Given the description of an element on the screen output the (x, y) to click on. 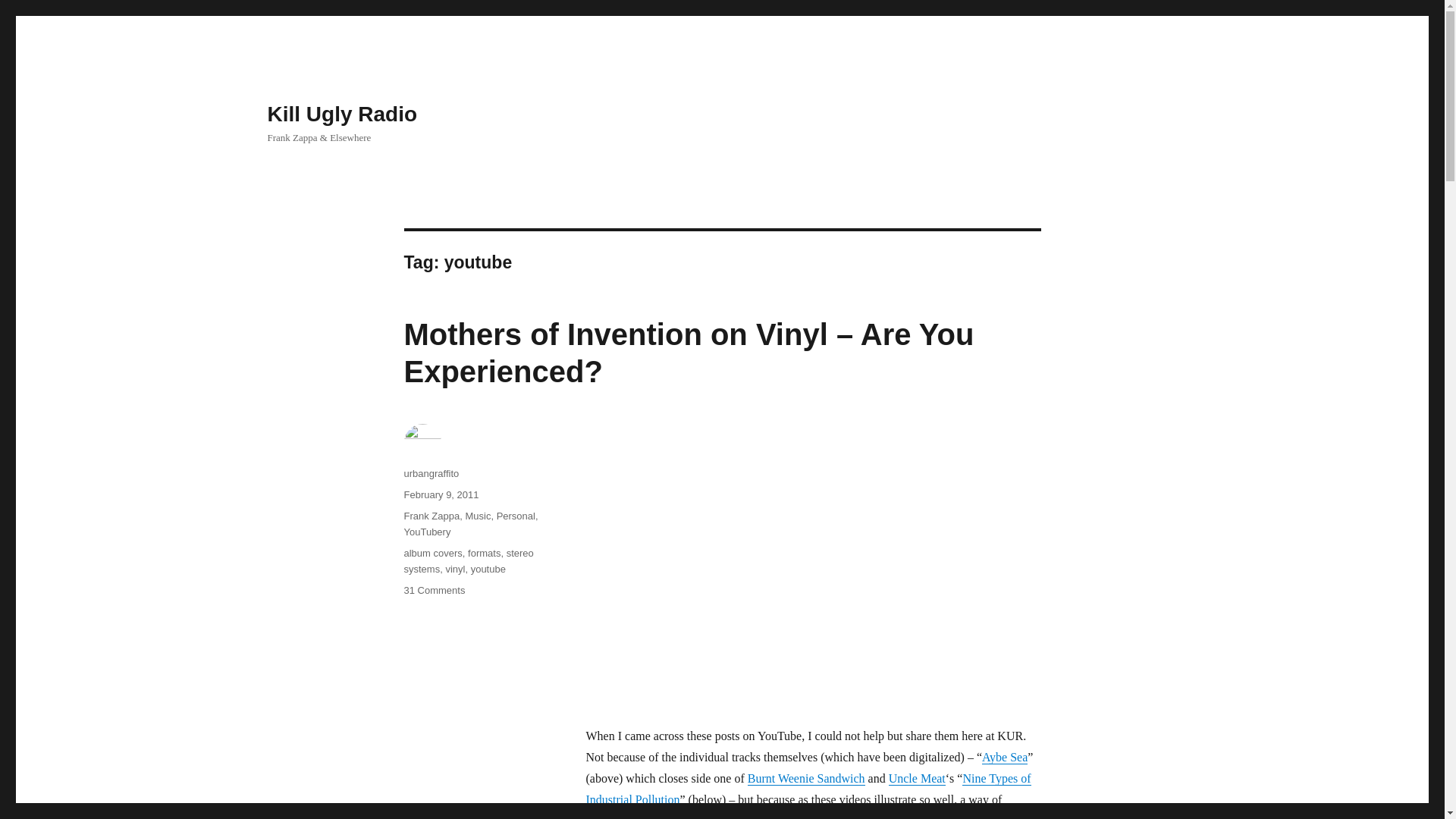
formats (483, 552)
album covers (432, 552)
vinyl (454, 568)
February 9, 2011 (441, 494)
youtube (487, 568)
Music (477, 515)
Uncle Meat (916, 778)
stereo systems (467, 560)
Kill Ugly Radio (341, 114)
YouTubery (426, 531)
Burnt Weenie Sandwich (806, 778)
Aybe Sea (1004, 757)
Frank Zappa (431, 515)
urbangraffito (430, 473)
Personal (515, 515)
